Given the description of an element on the screen output the (x, y) to click on. 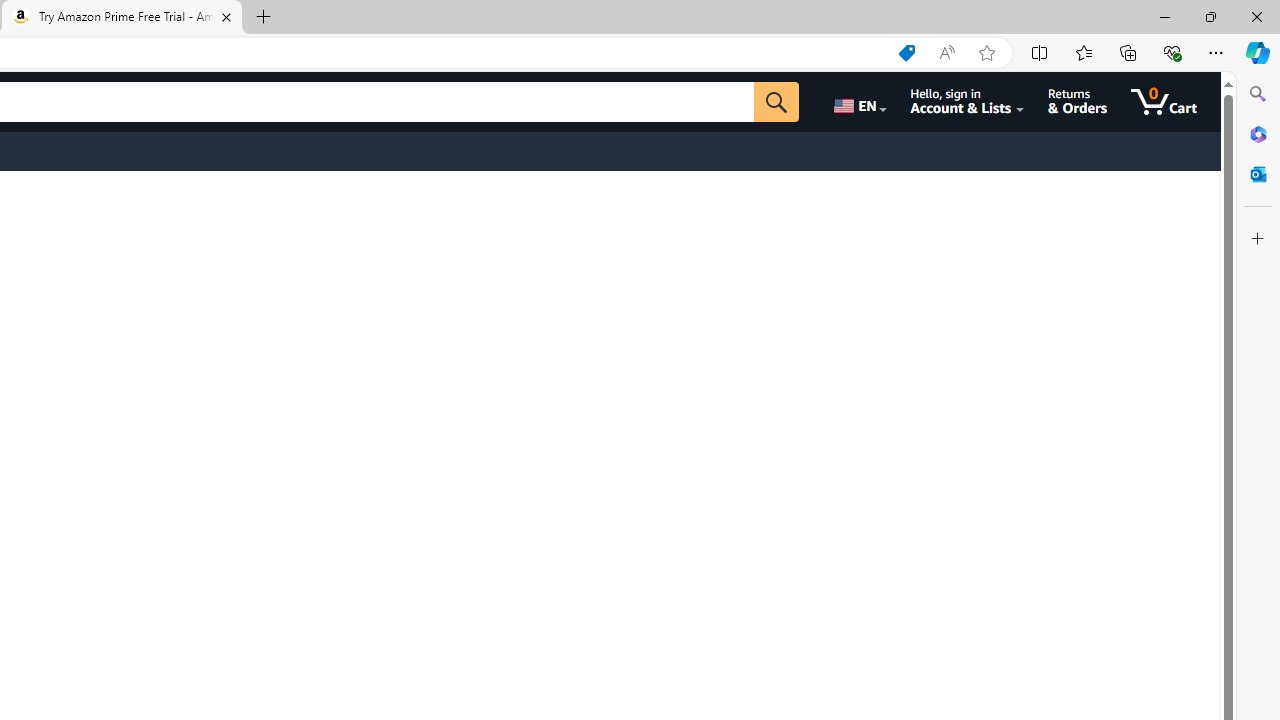
Shopping in Microsoft Edge (906, 53)
0 items in cart (1163, 101)
Go (776, 101)
Choose a language for shopping. (858, 101)
